Given the description of an element on the screen output the (x, y) to click on. 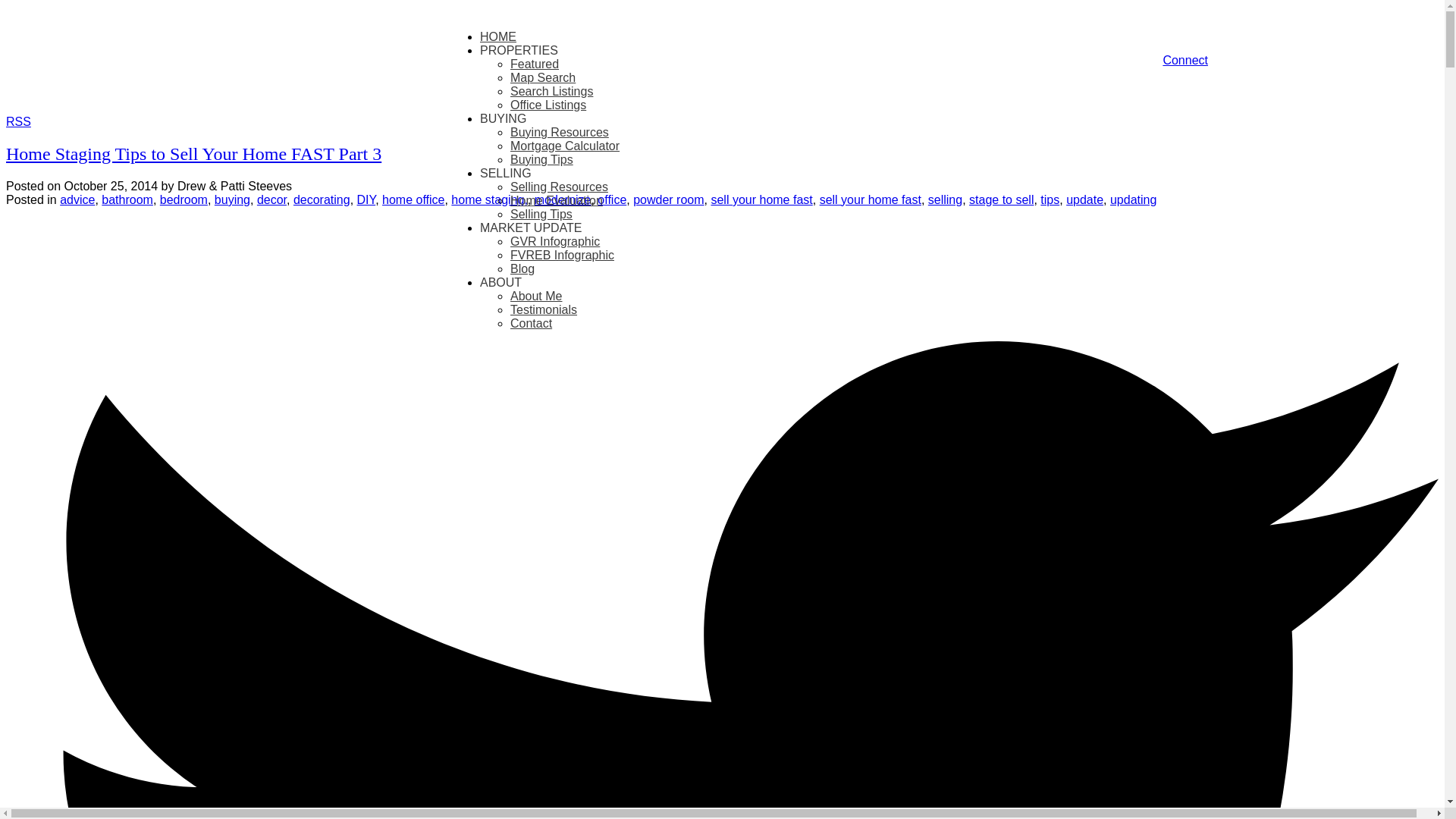
Selling Tips (541, 214)
modernize (562, 199)
HOME (498, 37)
office (611, 199)
Buying Resources (559, 132)
Contact (531, 323)
GVR Infographic (555, 241)
Buying Tips (542, 159)
Selling Resources (559, 186)
Testimonials (543, 309)
